Given the description of an element on the screen output the (x, y) to click on. 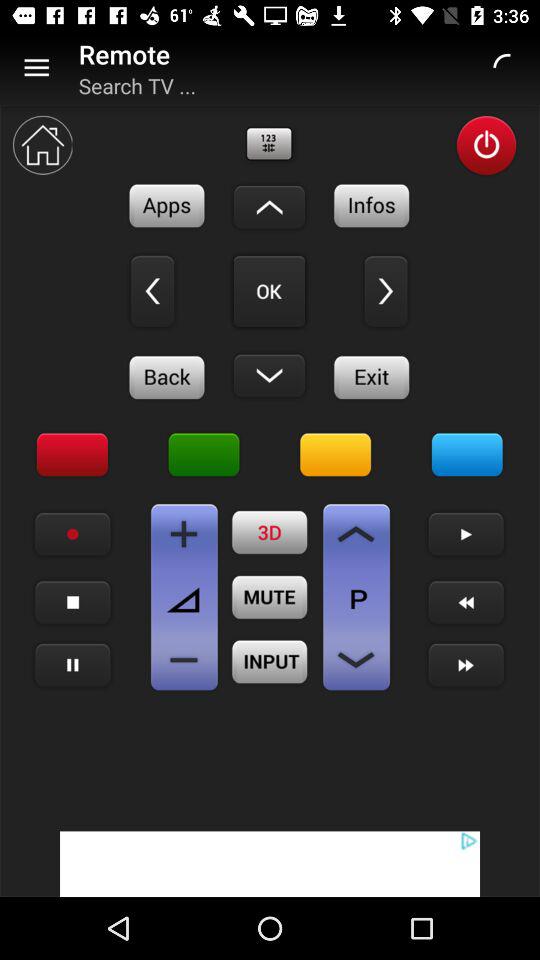
navigation down on remote (269, 375)
